Given the description of an element on the screen output the (x, y) to click on. 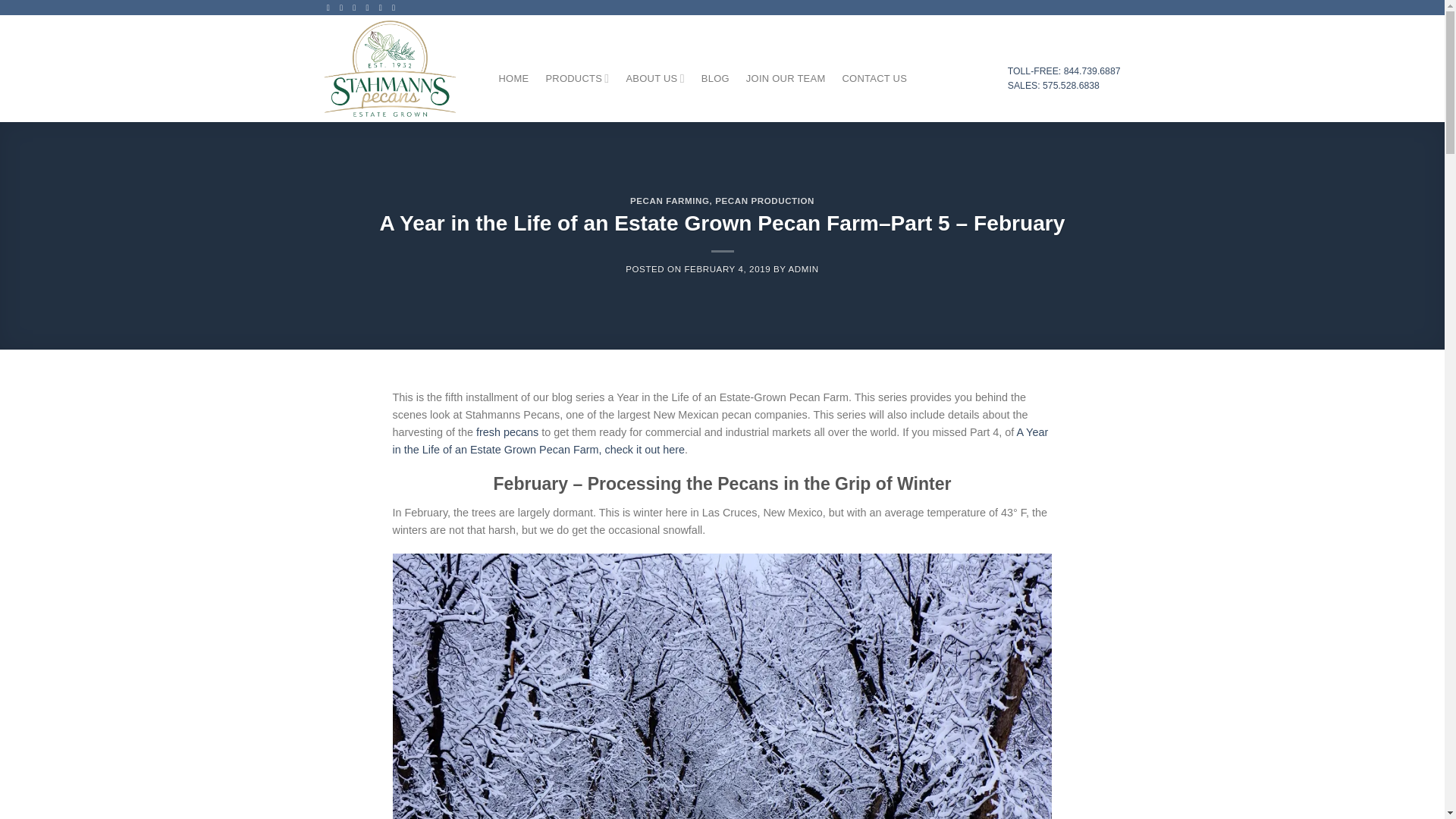
Follow on LinkedIn (382, 7)
PECAN FARMING (670, 200)
PRODUCTS (576, 78)
CONTACT US (874, 78)
ADMIN (803, 268)
PECAN PRODUCTION (763, 200)
JOIN OUR TEAM (785, 78)
Follow on YouTube (395, 7)
Follow on Instagram (343, 7)
SALES: 575.528.6838 (1053, 85)
fresh pecans (507, 431)
Stahmanns Pecans - Estate grown pecans since 1932 (400, 68)
Follow on Pinterest (370, 7)
TOLL-FREE: 844.739.6887 (1064, 71)
